Given the description of an element on the screen output the (x, y) to click on. 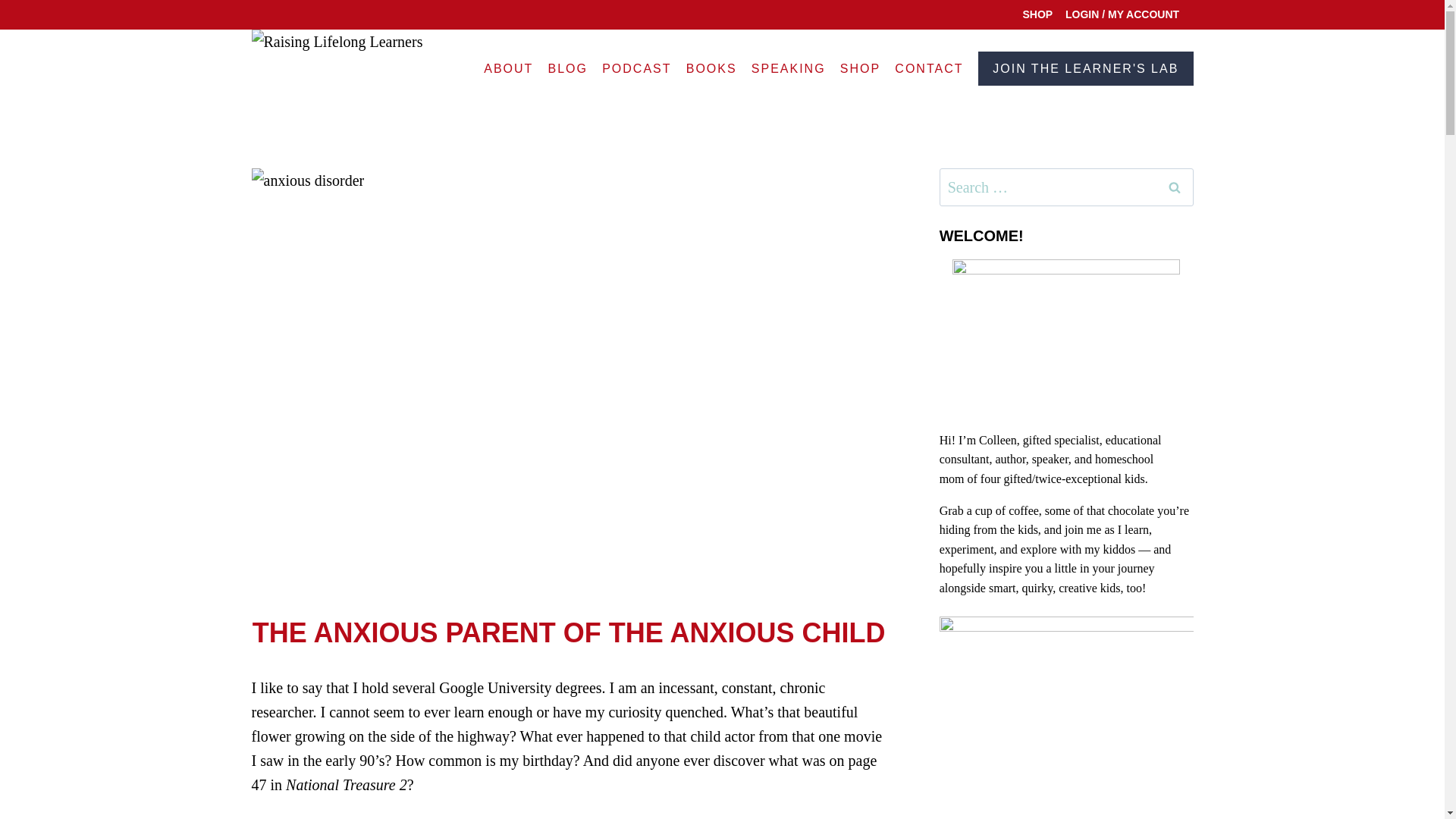
Search (1174, 187)
JOIN THE LEARNER'S LAB (1085, 68)
BLOG (567, 68)
SHOP (1037, 14)
speaker (1050, 459)
Search (1174, 187)
SPEAKING (788, 68)
CONTACT (929, 68)
author (1009, 459)
BOOKS (711, 68)
ABOUT (508, 68)
SHOP (860, 68)
PODCAST (637, 68)
Search (1174, 187)
homeschool mom (1046, 468)
